Given the description of an element on the screen output the (x, y) to click on. 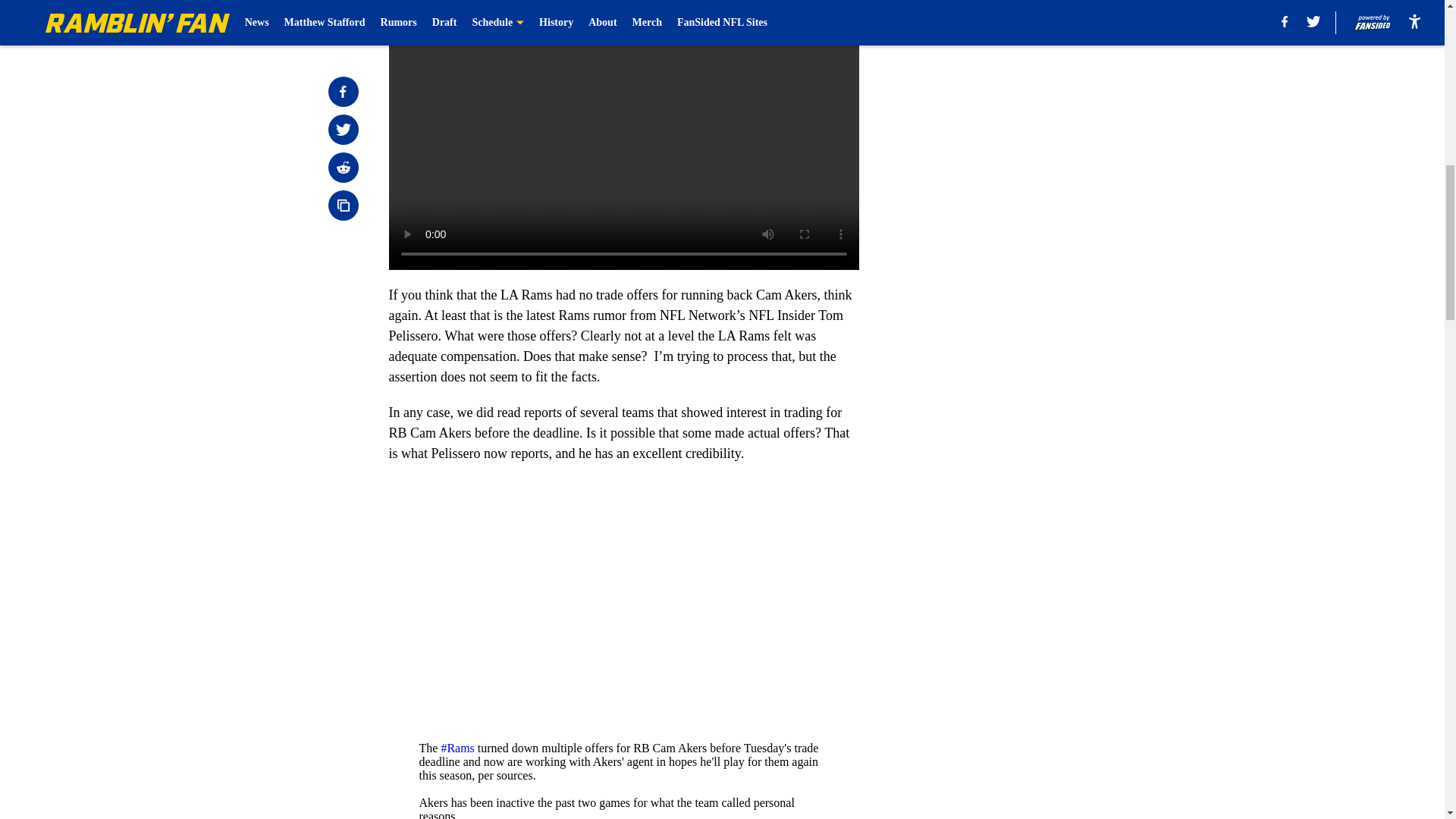
3rd party ad content (1047, 320)
3rd party ad content (1047, 100)
